Given the description of an element on the screen output the (x, y) to click on. 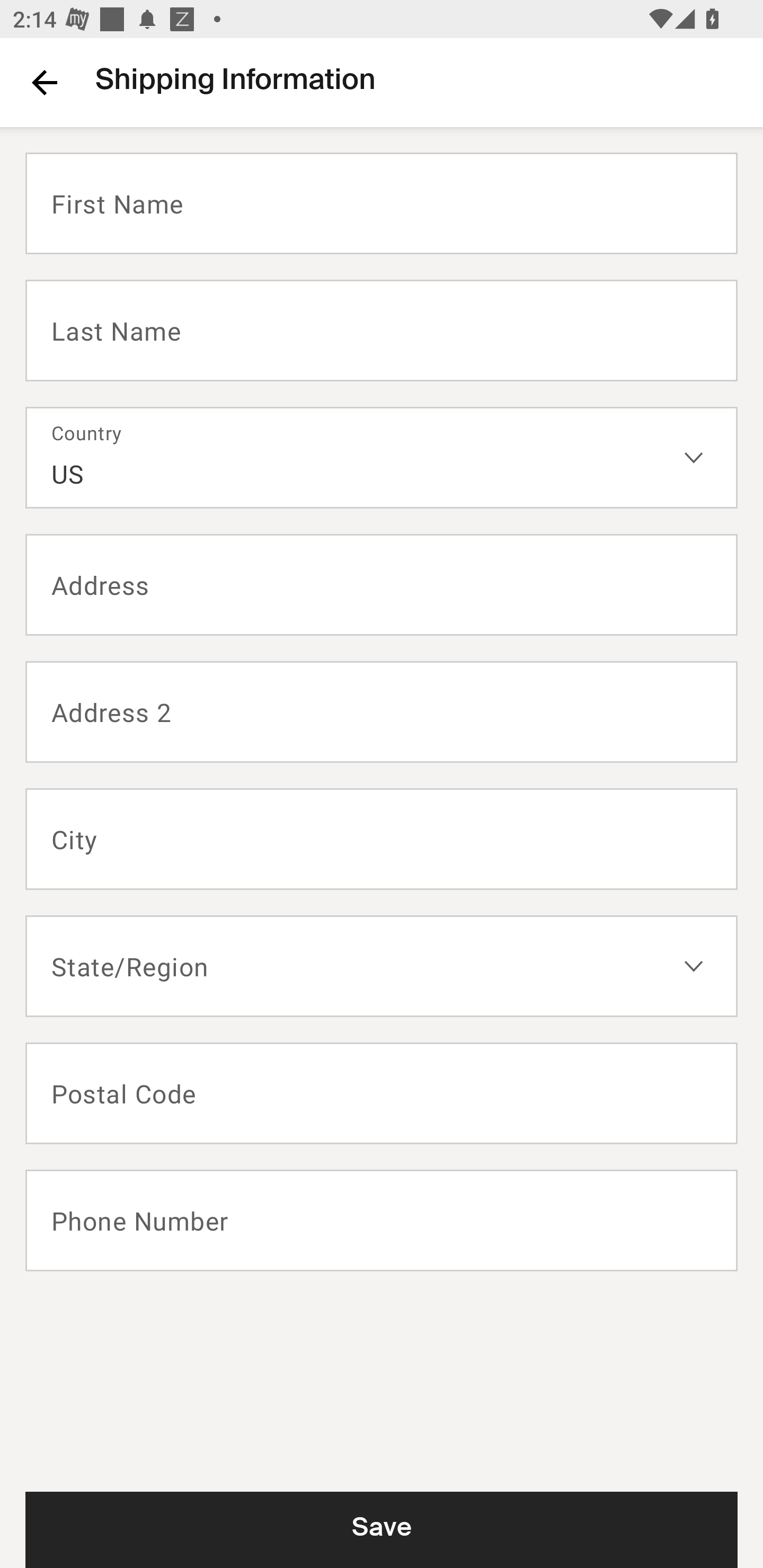
Navigate up (44, 82)
First Name (381, 203)
Last Name (381, 330)
Address (381, 584)
Address 2 (381, 711)
City (381, 839)
Postal Code (381, 1093)
Phone Number (381, 1220)
Save (381, 1529)
